Given the description of an element on the screen output the (x, y) to click on. 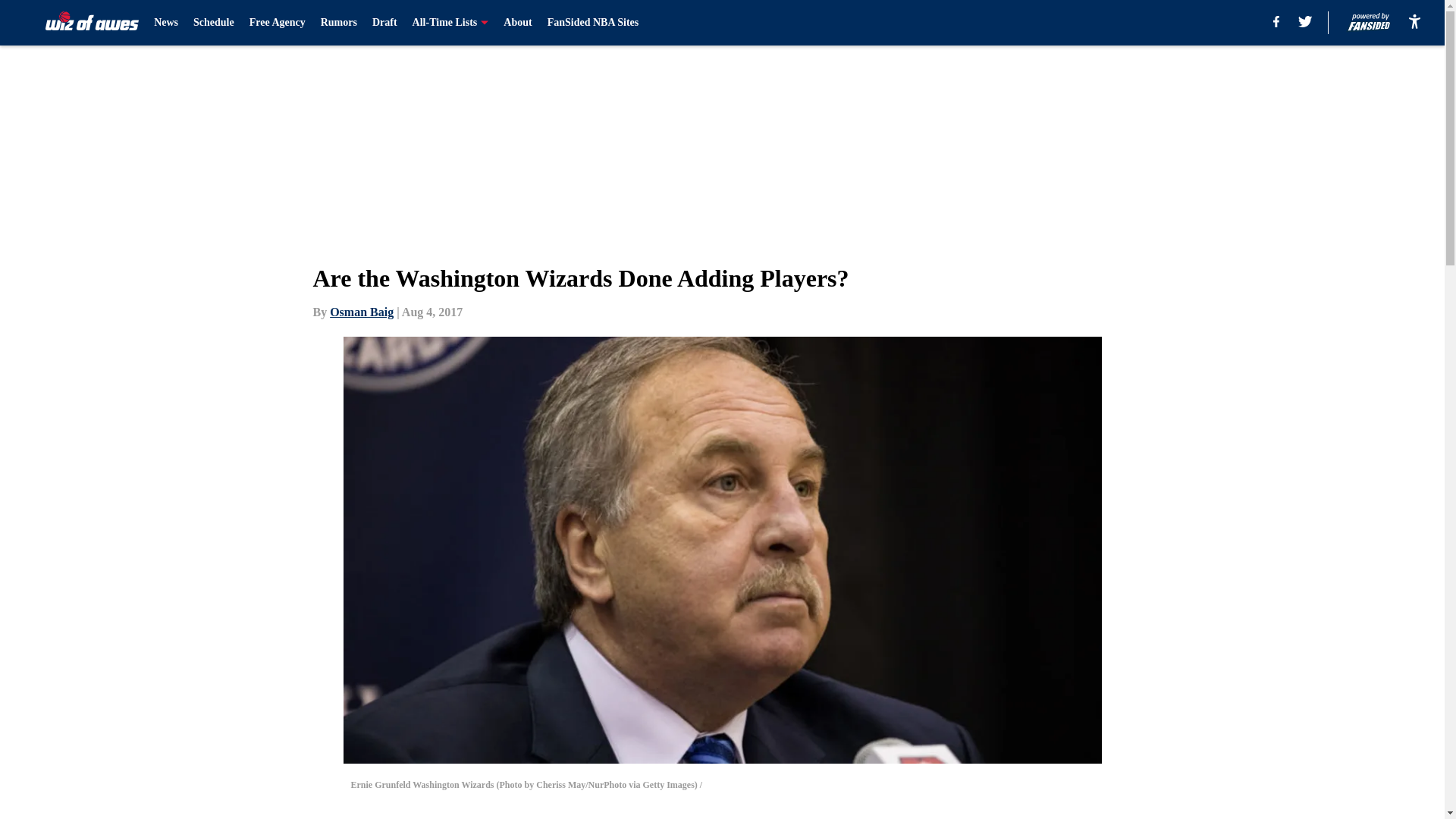
Osman Baig (361, 311)
Draft (384, 22)
About (517, 22)
Free Agency (276, 22)
All-Time Lists (450, 22)
News (165, 22)
Schedule (213, 22)
FanSided NBA Sites (593, 22)
Rumors (338, 22)
